Given the description of an element on the screen output the (x, y) to click on. 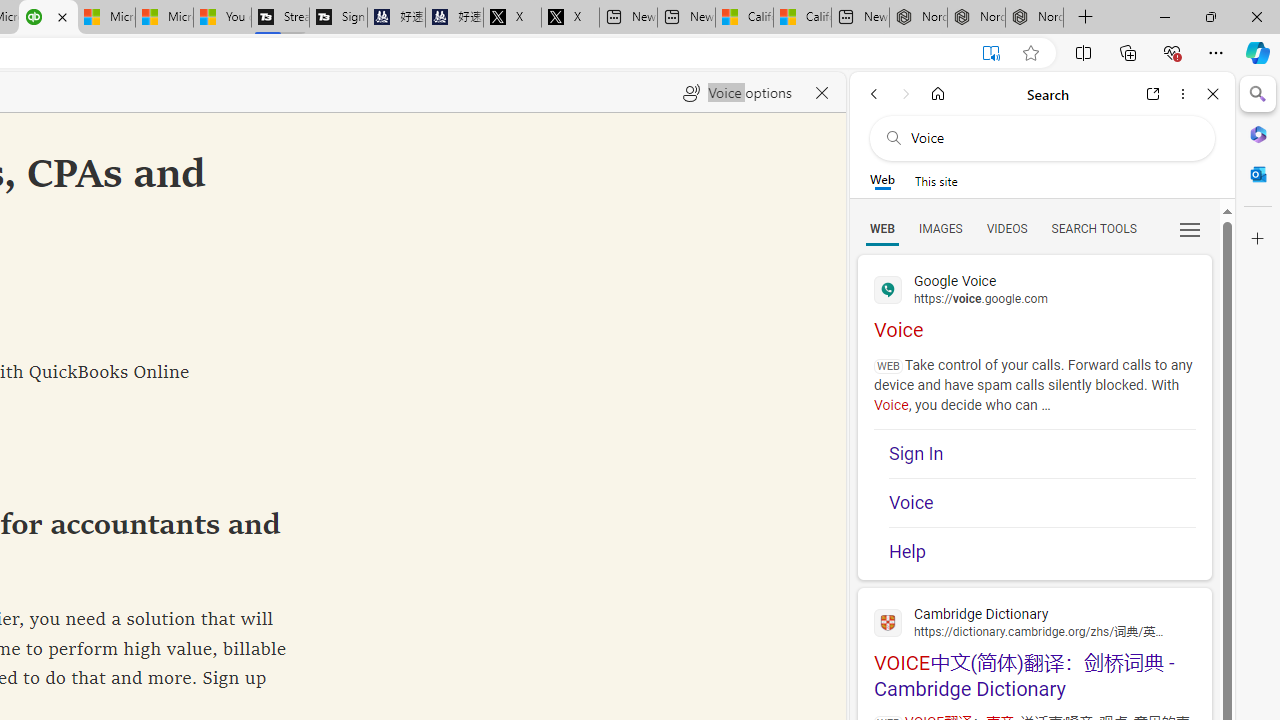
Google Voice (1034, 288)
Accounting Software for Accountants, CPAs and Bookkeepers (48, 17)
This site scope (936, 180)
Nordace - Best Sellers (918, 17)
SEARCH TOOLS (1093, 228)
Customize (1258, 239)
Outlook (1258, 174)
Home (938, 93)
Sign In (1042, 453)
